Given the description of an element on the screen output the (x, y) to click on. 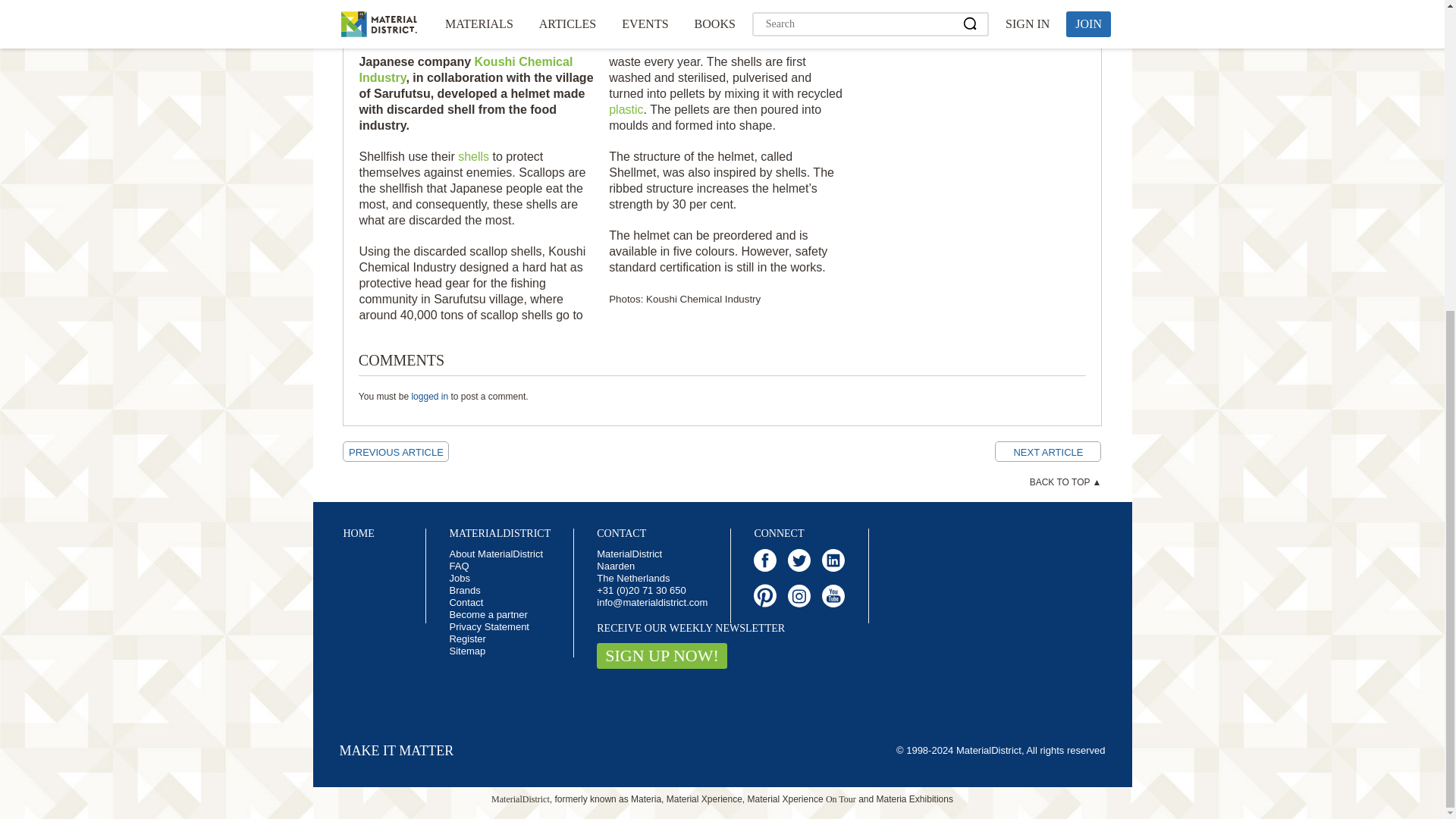
Share (441, 3)
Sitemap (466, 650)
Jobs (458, 577)
Stuur deze pagina per email (500, 3)
Brands (464, 590)
Mars-approved tires for your bike (395, 451)
logged in (429, 396)
MaterialDistrict Utrecht announces its 16th edition (1047, 451)
NEXT ARTICLE (1047, 451)
Privacy Statement (488, 626)
Become a partner (487, 614)
Koushi Chemical Industry (465, 69)
shells (473, 155)
Contact (465, 602)
About MaterialDistrict (495, 553)
